Given the description of an element on the screen output the (x, y) to click on. 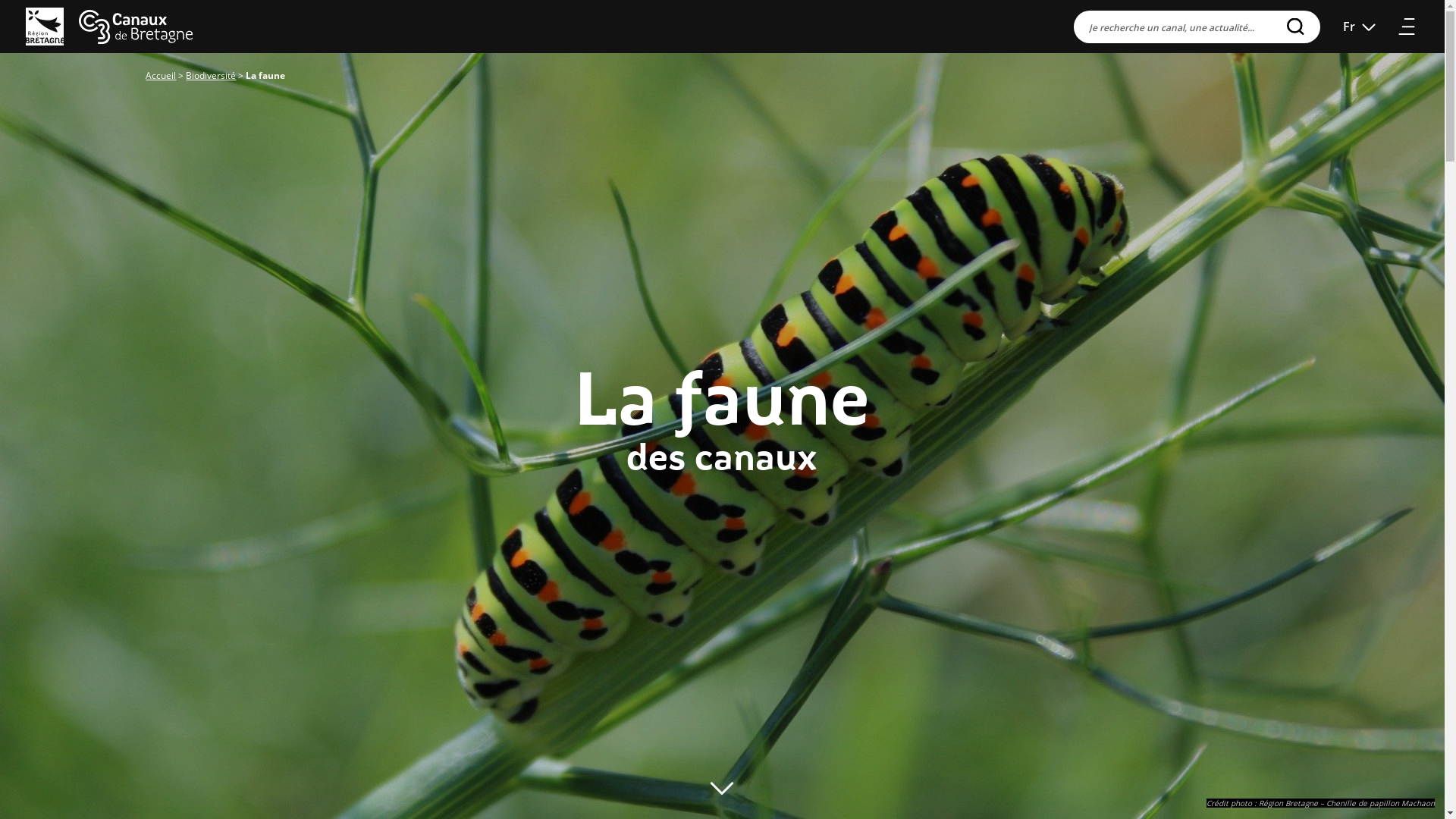
Menu Element type: text (1406, 26)
Fr Element type: text (1359, 26)
Accueil Element type: text (160, 75)
